Given the description of an element on the screen output the (x, y) to click on. 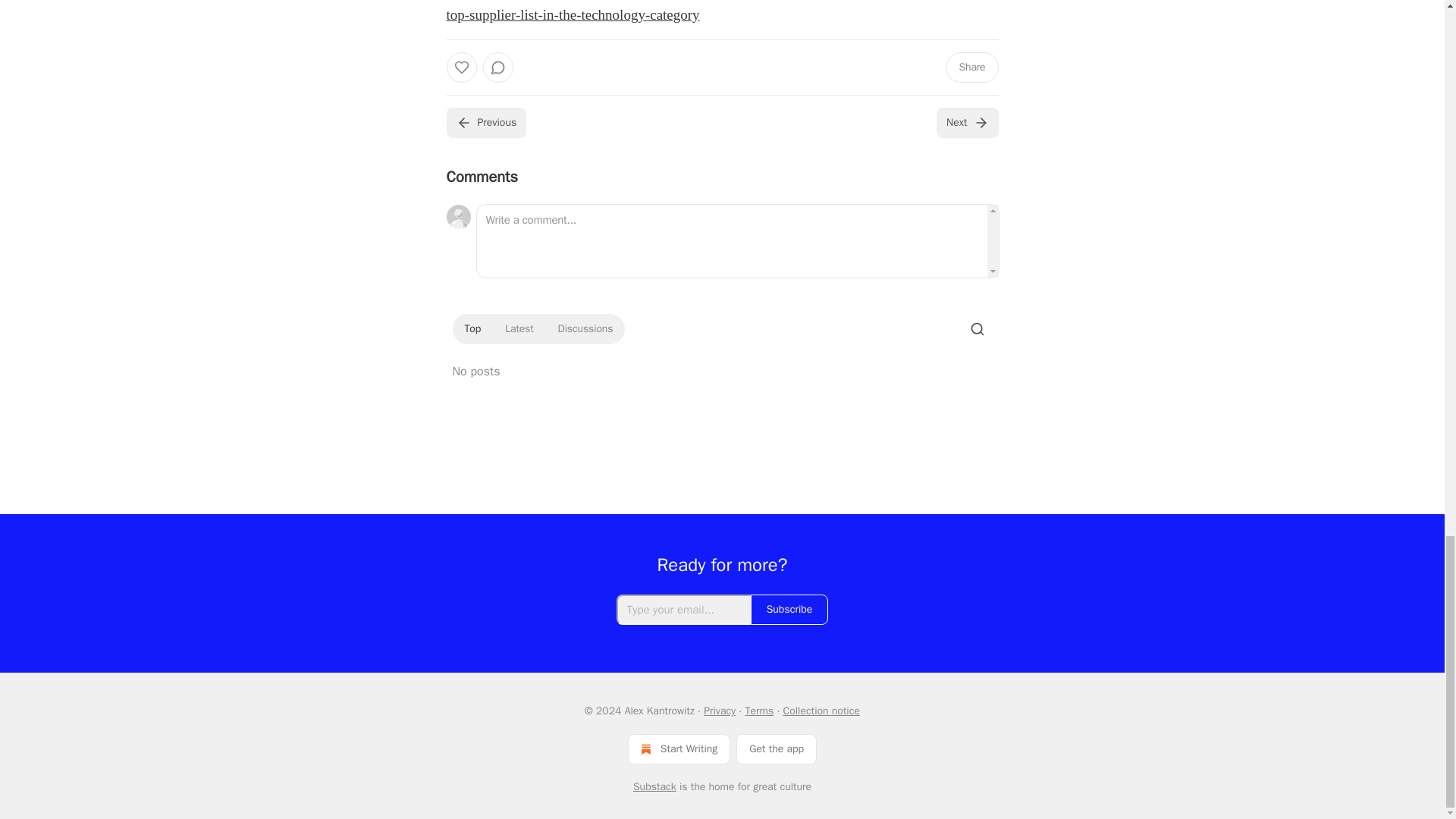
Share (970, 67)
Subscribe (789, 609)
Previous (485, 122)
Latest (518, 328)
Discussions (585, 328)
Next (966, 122)
Top (471, 328)
